Given the description of an element on the screen output the (x, y) to click on. 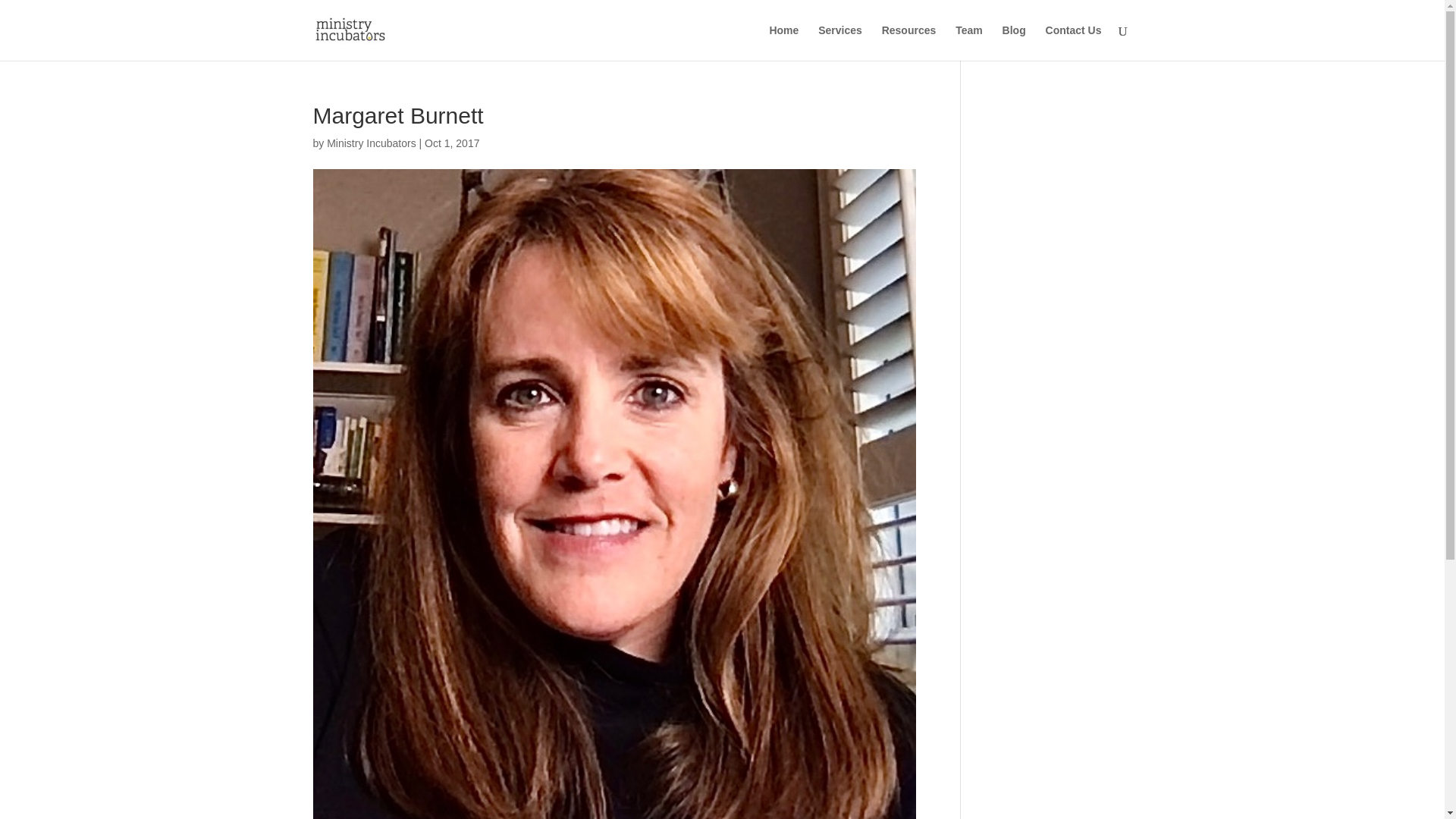
Contact Us (1073, 42)
Resources (909, 42)
Ministry Incubators (370, 143)
Home (782, 42)
Team (968, 42)
Blog (1014, 42)
Services (839, 42)
Posts by Ministry Incubators (370, 143)
